Given the description of an element on the screen output the (x, y) to click on. 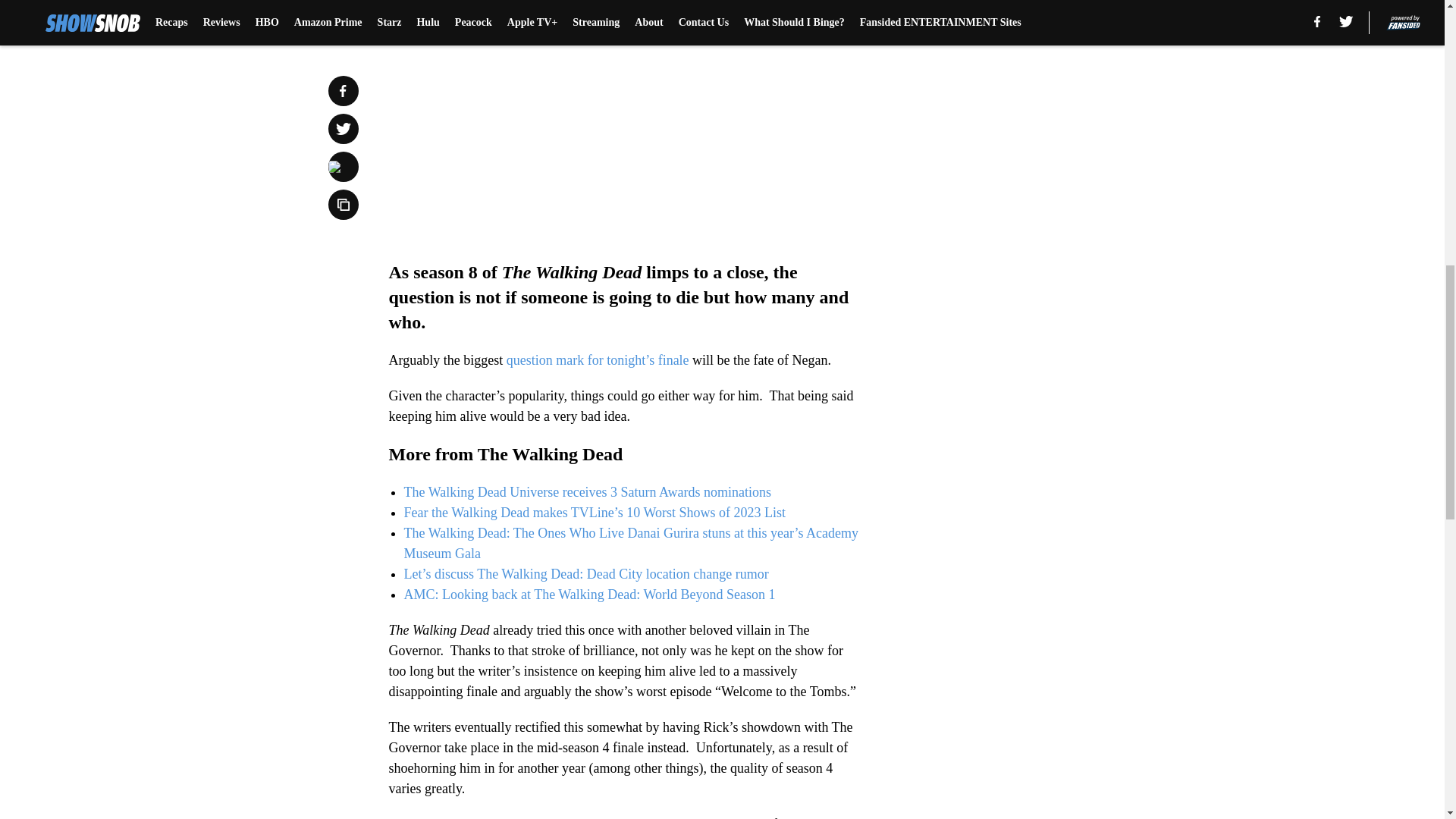
AMC: Looking back at The Walking Dead: World Beyond Season 1 (588, 594)
